Given the description of an element on the screen output the (x, y) to click on. 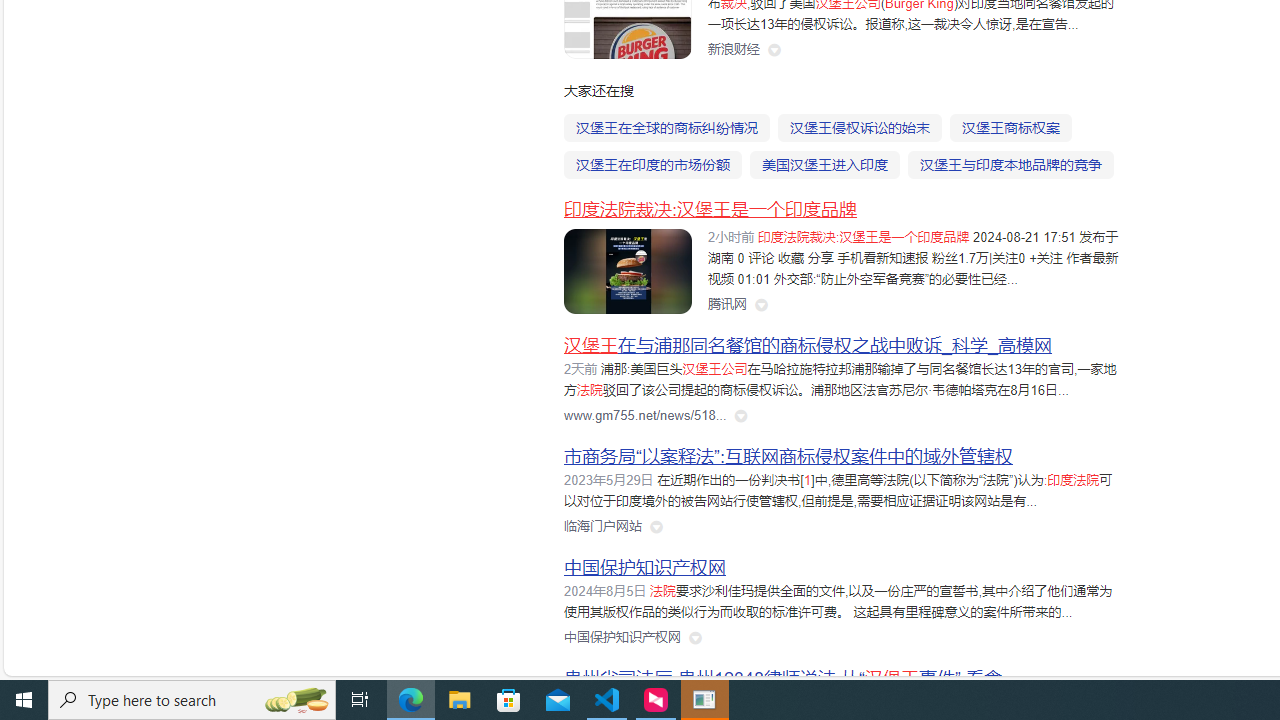
Class: siteLink_9TPP3 (622, 637)
